Given the description of an element on the screen output the (x, y) to click on. 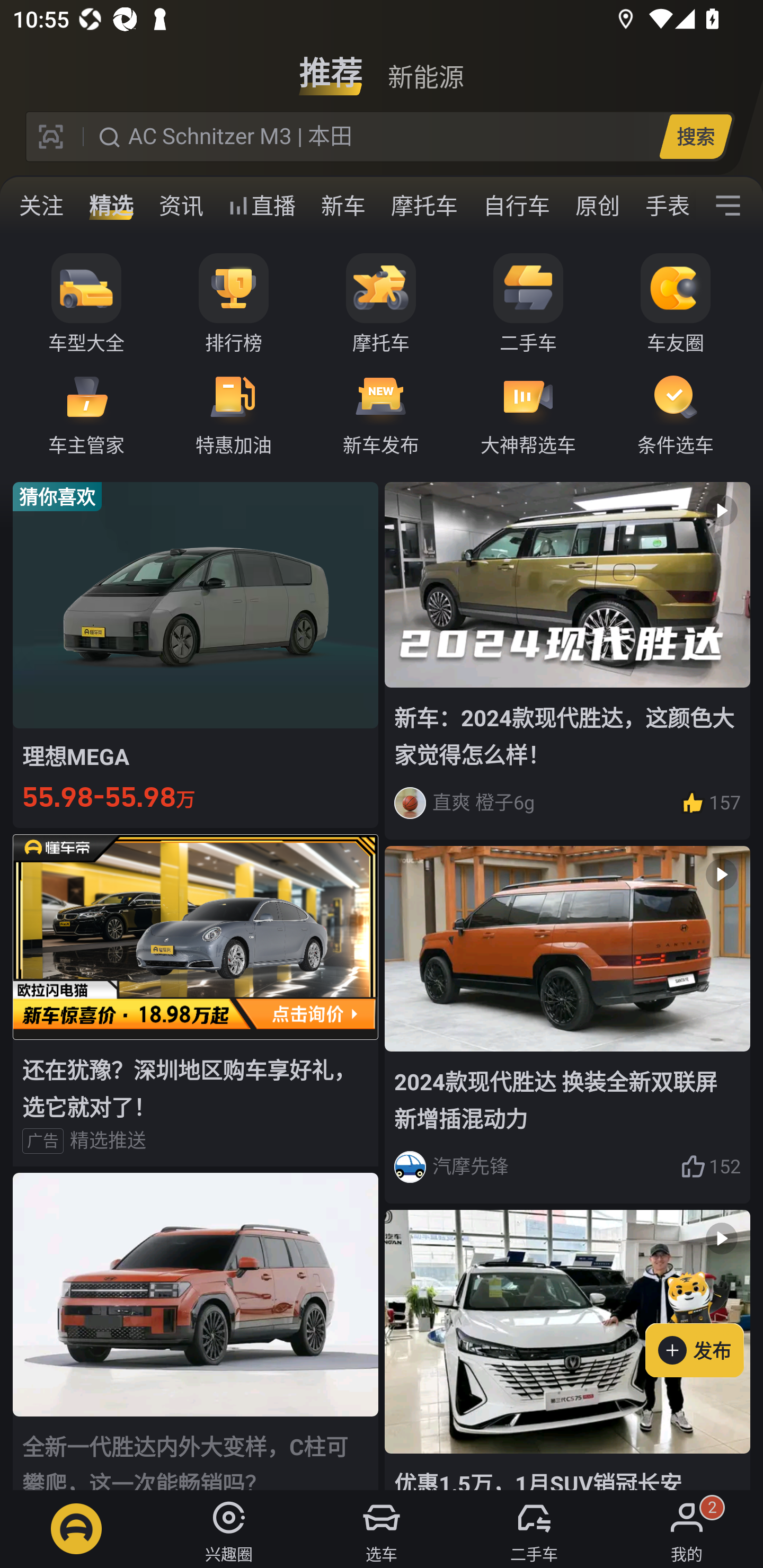
推荐 (330, 65)
新能源 (425, 65)
搜索 (695, 136)
关注 (41, 205)
精选 (111, 205)
资讯 (180, 205)
直播 (261, 205)
新车 (343, 205)
摩托车 (424, 205)
自行车 (516, 205)
原创 (597, 205)
手表 (663, 205)
 (727, 205)
车型大全 (86, 303)
排行榜 (233, 303)
摩托车 (380, 303)
二手车 (528, 303)
车友圈 (675, 303)
车主管家 (86, 412)
特惠加油 (233, 412)
新车发布 (380, 412)
大神帮选车 (528, 412)
条件选车 (675, 412)
猜你喜欢 理想MEGA 55.98-55.98万 (195, 654)
 新车：2024款现代胜达，这颜色大家觉得怎么样！ 直爽 橙子6g 157 (567, 659)
157 (710, 802)
还在犹豫？深圳地区购车享好礼，选它就对了！ 广告 精选推送 (195, 1000)
 2024款现代胜达 换装全新双联屏 新增插混动力 汽摩先锋 152 (567, 1025)
152 (710, 1166)
全新一代胜达内外大变样，C柱可攀爬，这一次能畅销吗？ (195, 1330)
 优惠1.5万，1月SUV销冠长安CS75PLUS为何值得买？性价比是亮点！ (567, 1349)
发布 (704, 1320)
 兴趣圈 (228, 1528)
 选车 (381, 1528)
 二手车 (533, 1528)
 我的 (686, 1528)
